Given the description of an element on the screen output the (x, y) to click on. 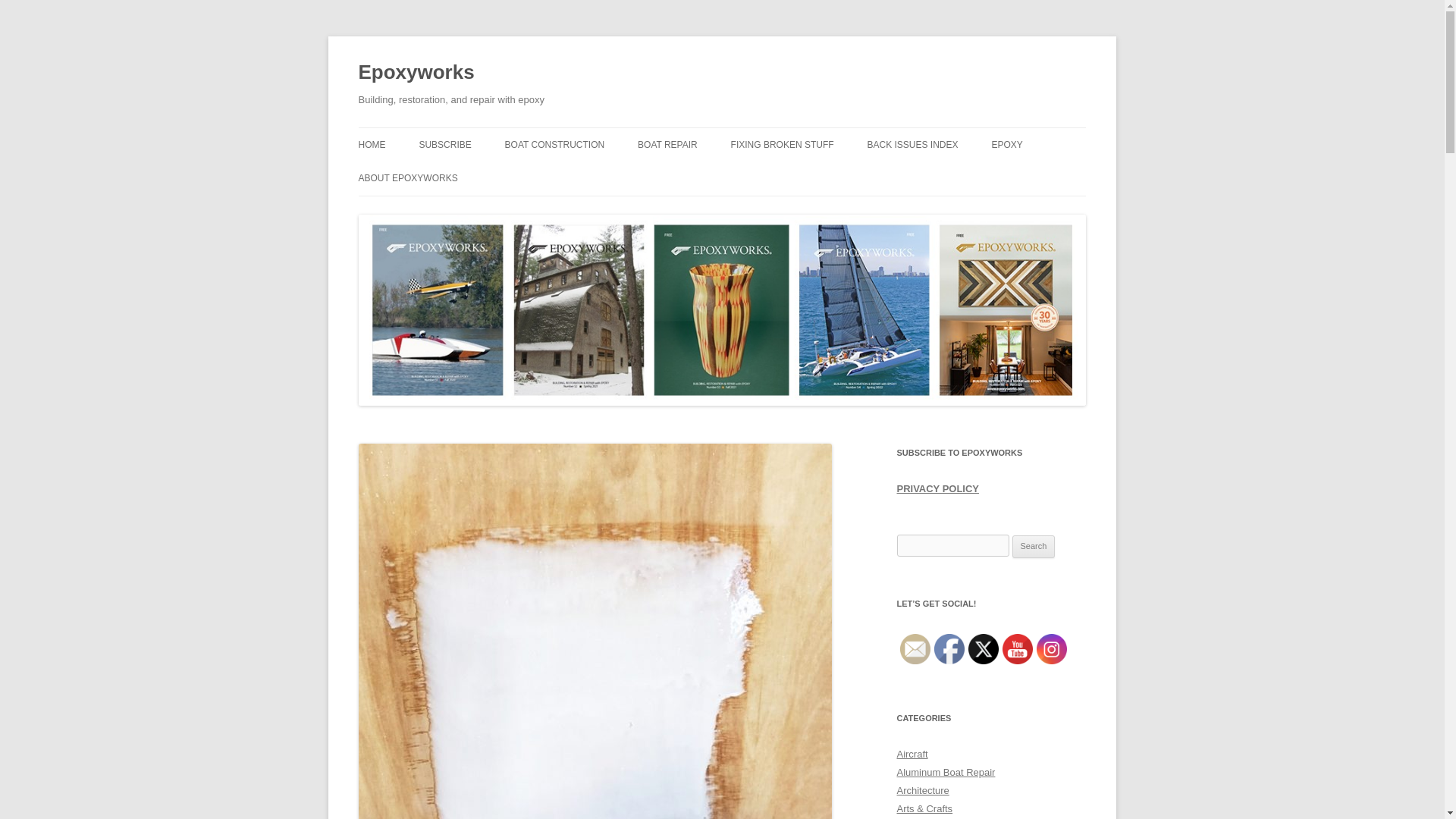
PRIVACY POLICY (937, 488)
SUBSCRIBE (444, 144)
PRIVACY POLICY (433, 210)
Follow by Email (914, 648)
Aluminum Boat Repair (945, 772)
YouTube (1017, 648)
BACK ISSUES INDEX (912, 144)
BOAT CONSTRUCTION (555, 144)
Aircraft (911, 754)
Search (1033, 546)
Twitter (982, 648)
ABOUT EPOXYWORKS (407, 177)
Epoxyworks (416, 72)
Instagram (1050, 648)
